Given the description of an element on the screen output the (x, y) to click on. 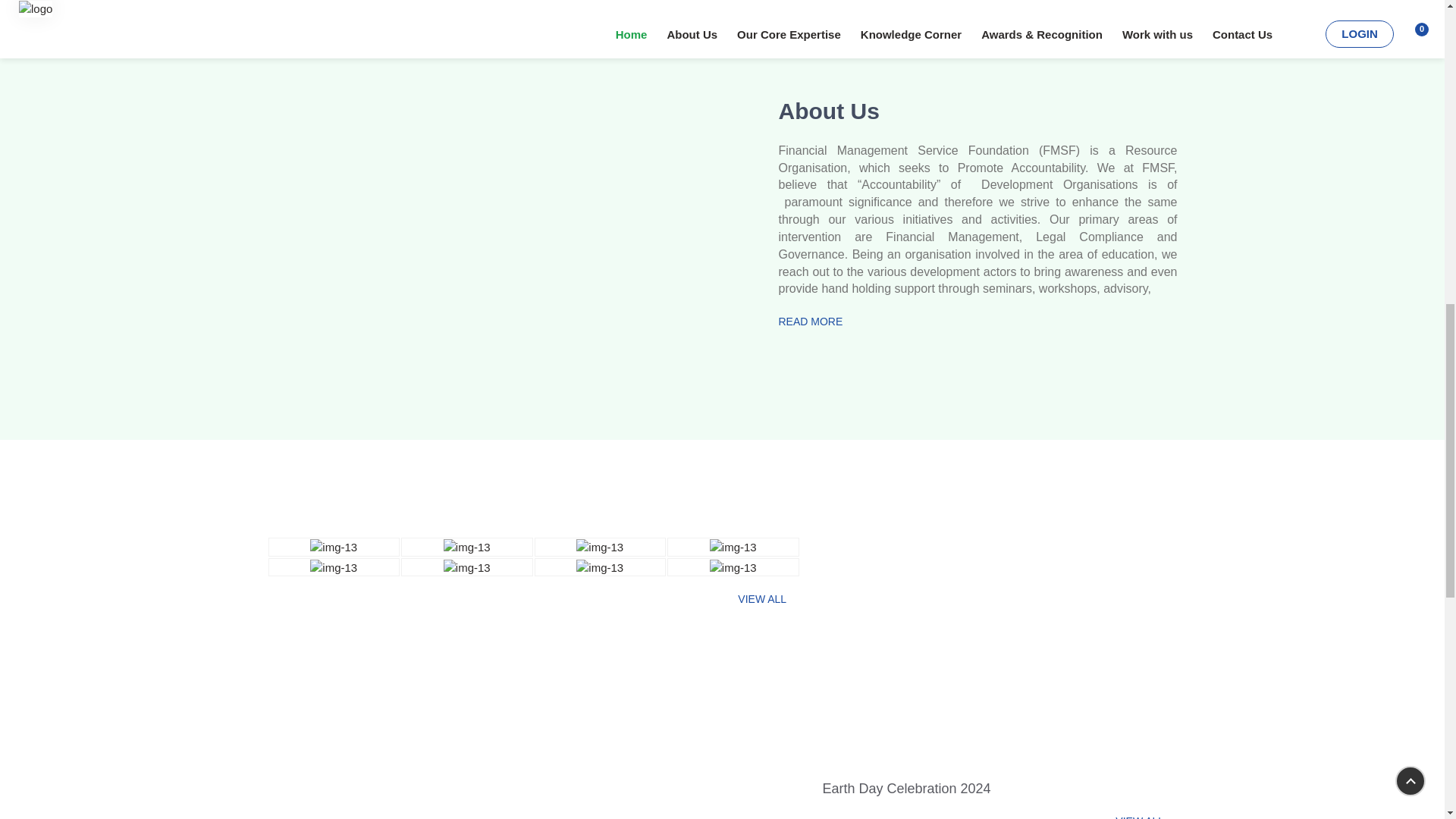
YouTube video player (502, 217)
YouTube video player (999, 656)
